Given the description of an element on the screen output the (x, y) to click on. 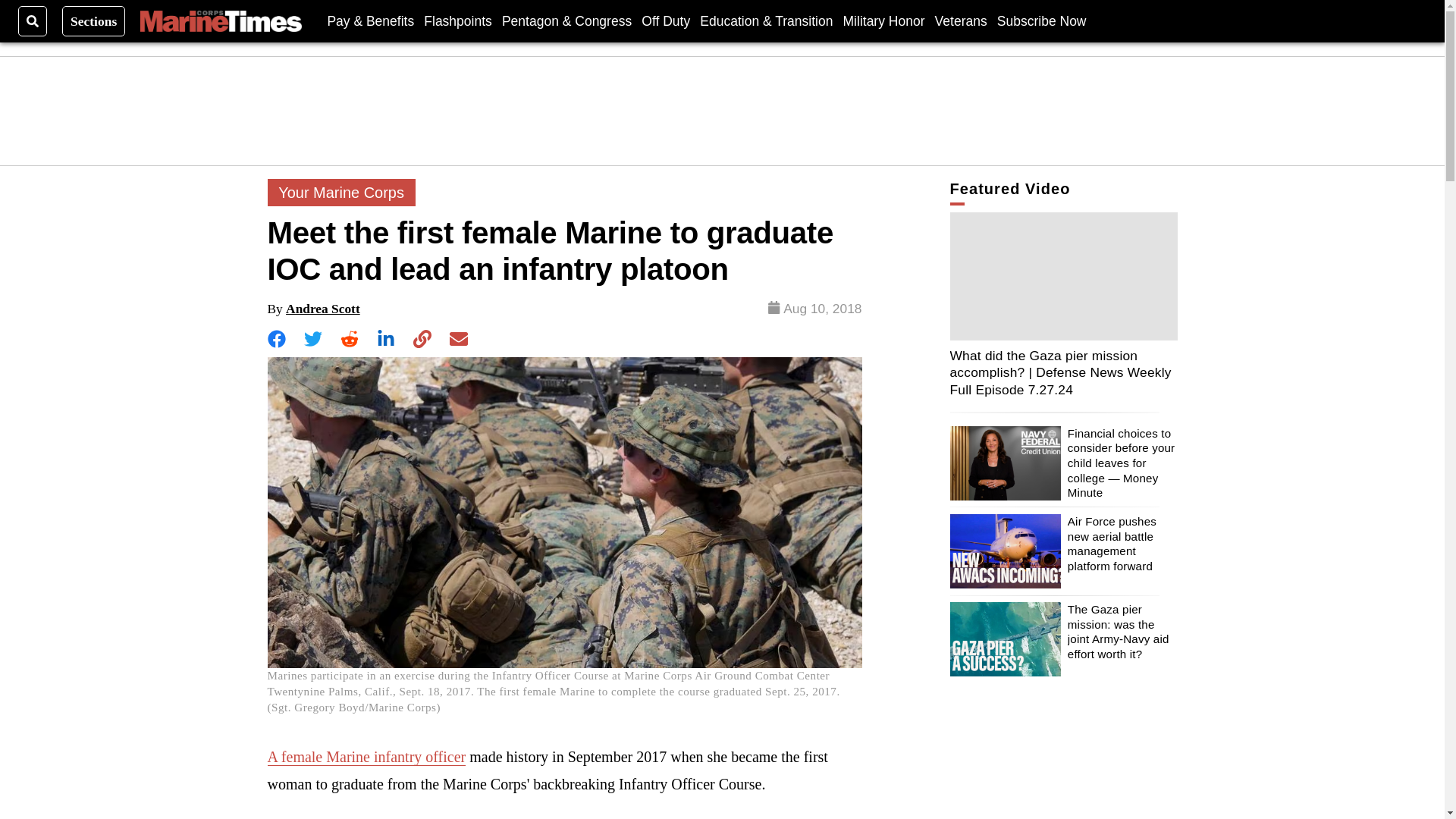
Marine Corps Times Logo (220, 20)
Military Honor (883, 20)
Veterans (960, 20)
Flashpoints (457, 20)
Off Duty (666, 20)
Sections (93, 20)
